Given the description of an element on the screen output the (x, y) to click on. 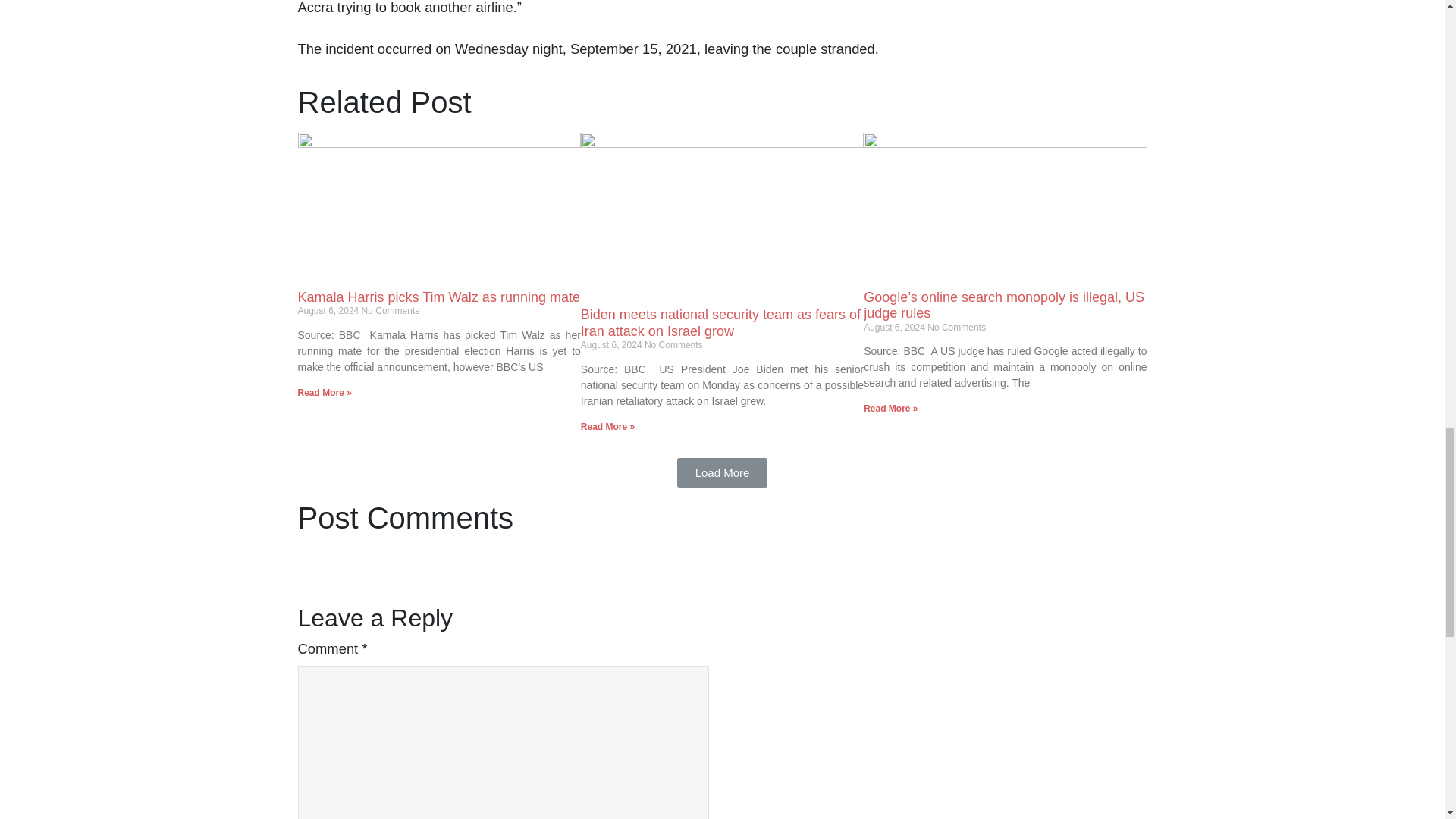
Kamala Harris picks Tim Walz as running mate (438, 296)
